Given the description of an element on the screen output the (x, y) to click on. 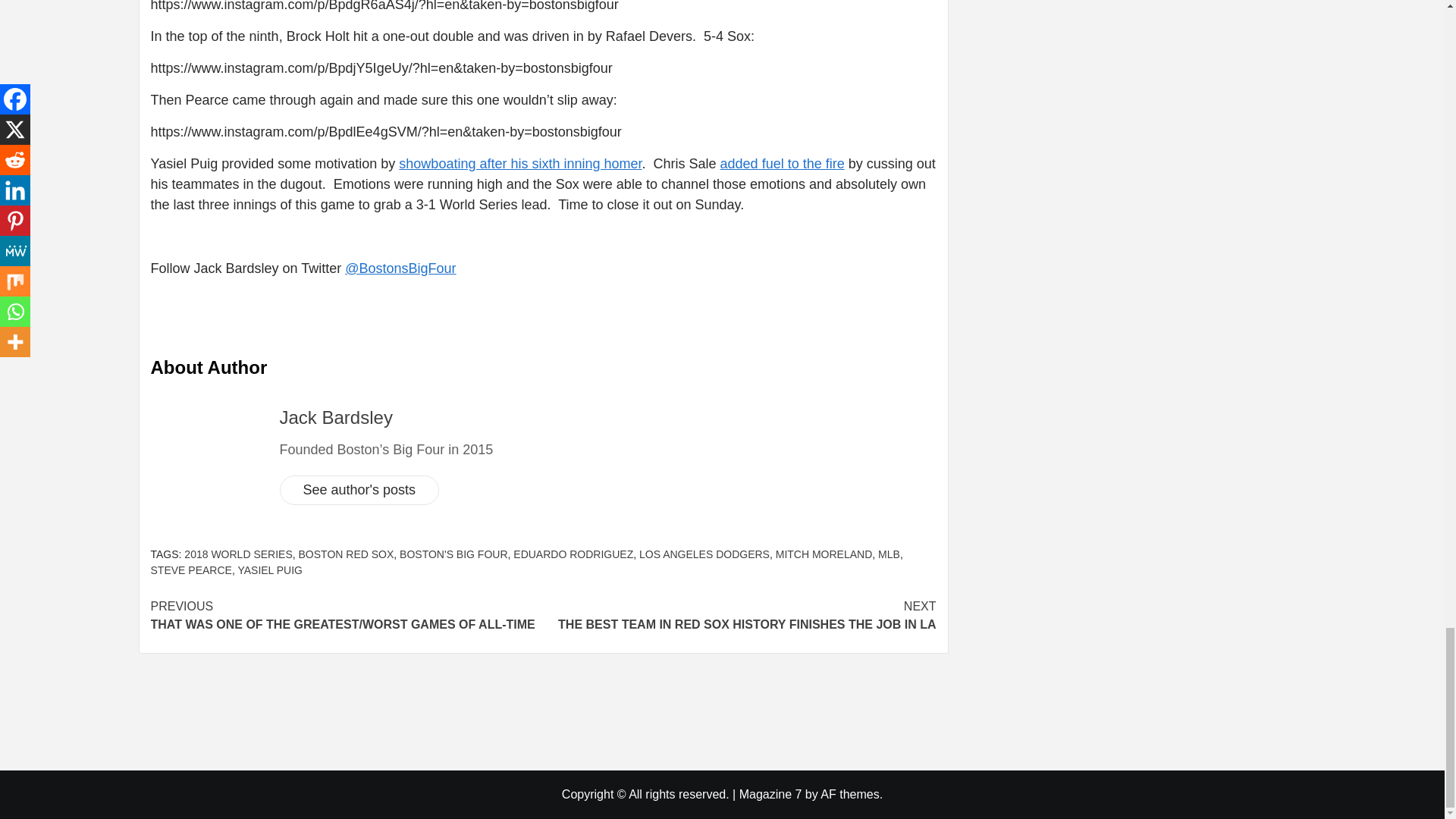
added fuel to the fire (782, 163)
showboating after his sixth inning homer (520, 163)
See author's posts (359, 490)
Jack Bardsley (335, 417)
